Given the description of an element on the screen output the (x, y) to click on. 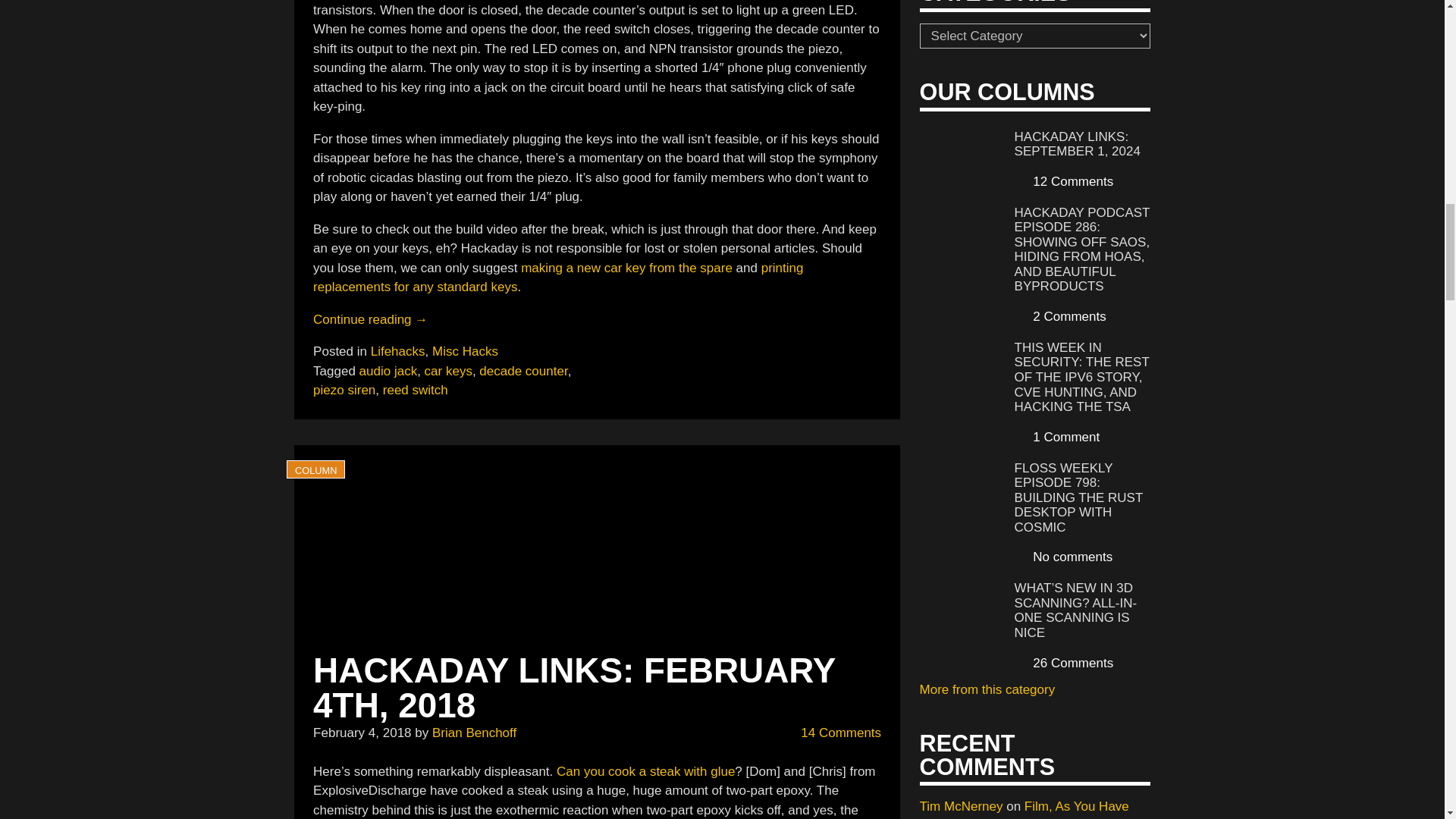
February 4, 2018 - 4:00 pm (361, 732)
making a new car key from the spare (626, 268)
Posts by Brian Benchoff (474, 732)
